Given the description of an element on the screen output the (x, y) to click on. 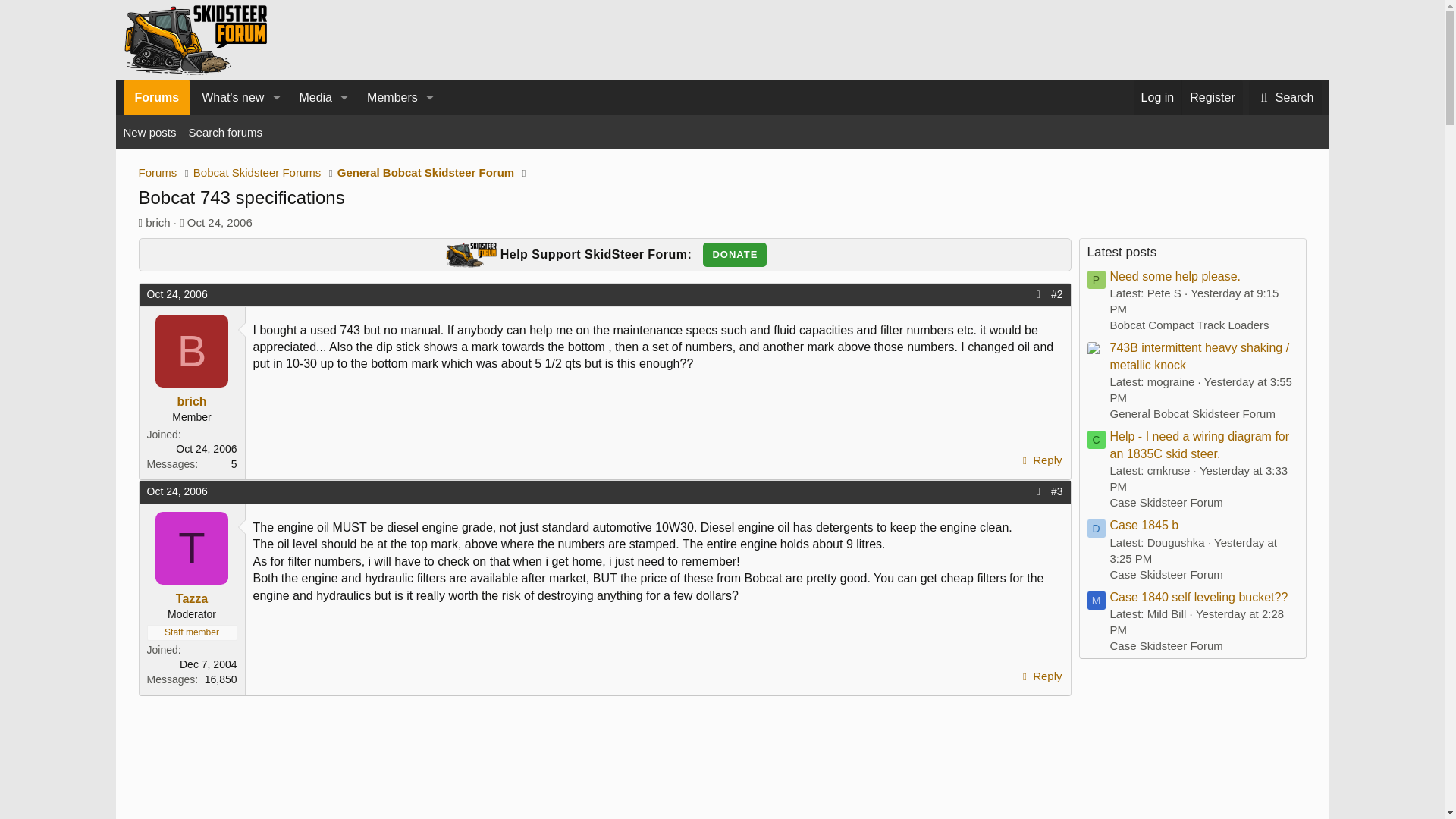
Log in (1158, 97)
Search forums (226, 131)
Reply, quoting this message (1040, 459)
Reply, quoting this message (1040, 676)
Donate (735, 254)
Forums (157, 172)
brich (157, 222)
Search (1285, 97)
PayPal - The safer, easier way to pay online! (735, 254)
Media (309, 97)
